Given the description of an element on the screen output the (x, y) to click on. 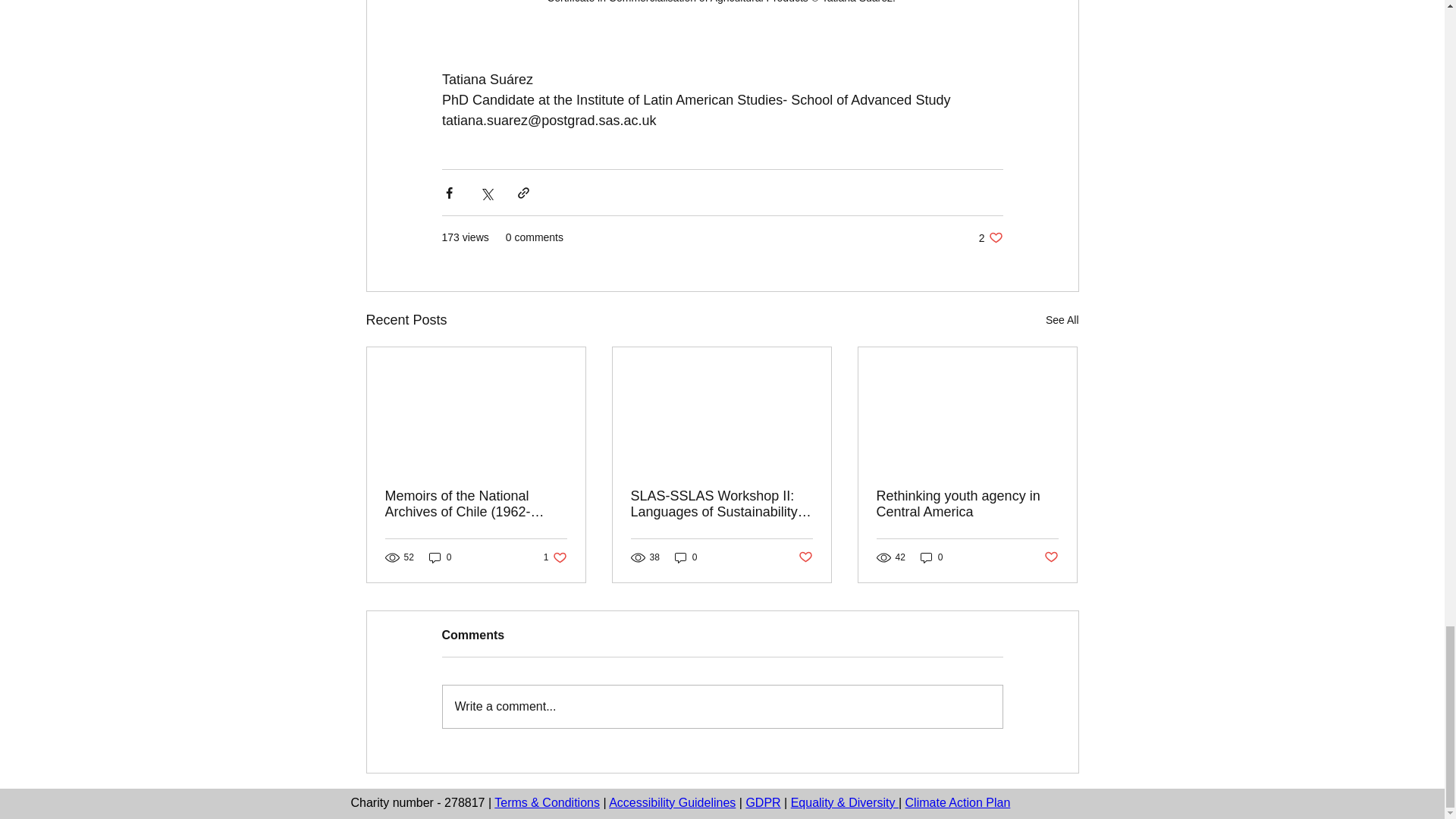
See All (1061, 320)
0 (440, 557)
Post not marked as liked (804, 557)
0 (990, 237)
